Given the description of an element on the screen output the (x, y) to click on. 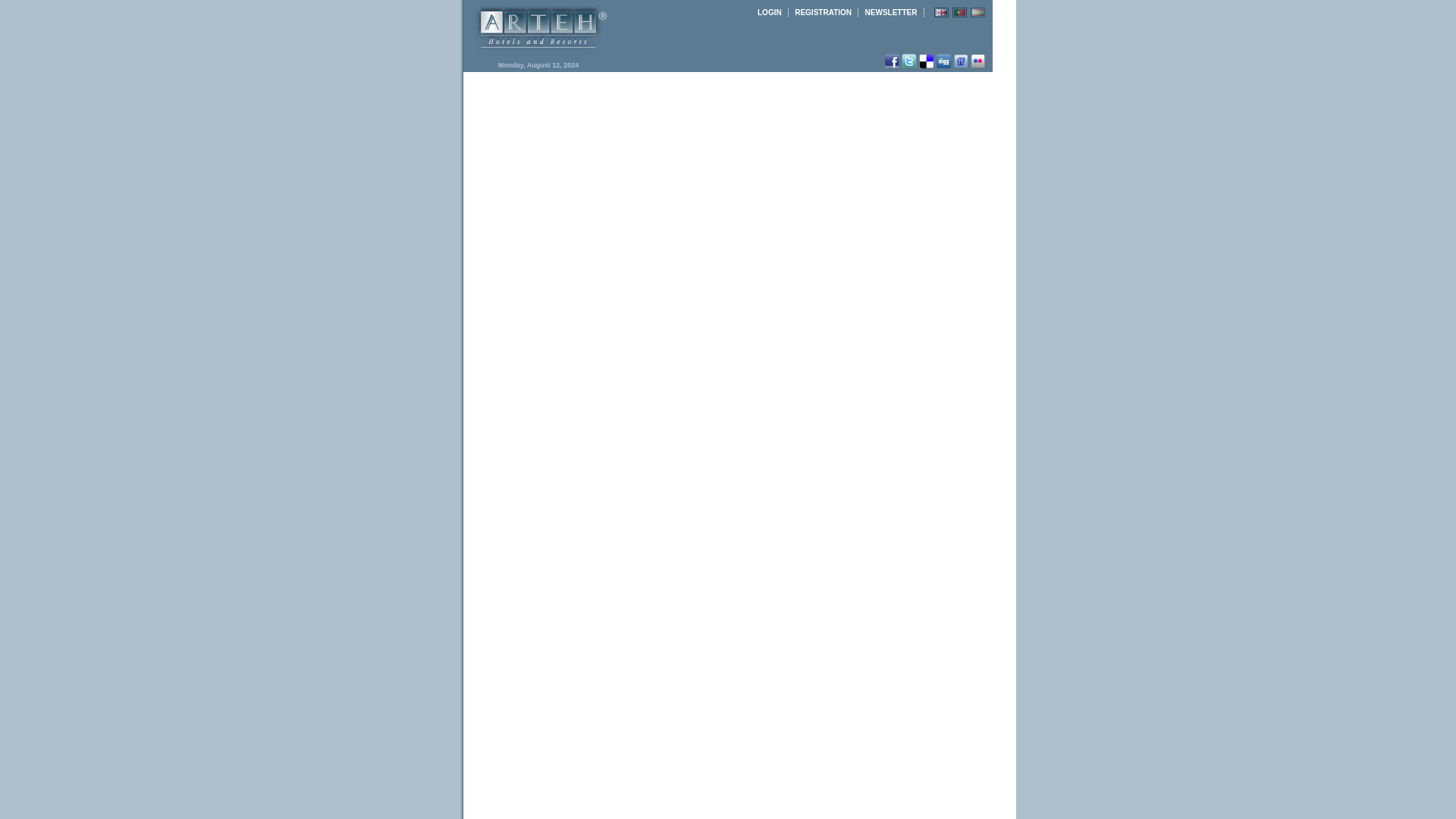
facebook (891, 60)
delicious (926, 60)
flickr (978, 60)
twitter (908, 60)
digg (943, 60)
friendfeed (961, 60)
